Given the description of an element on the screen output the (x, y) to click on. 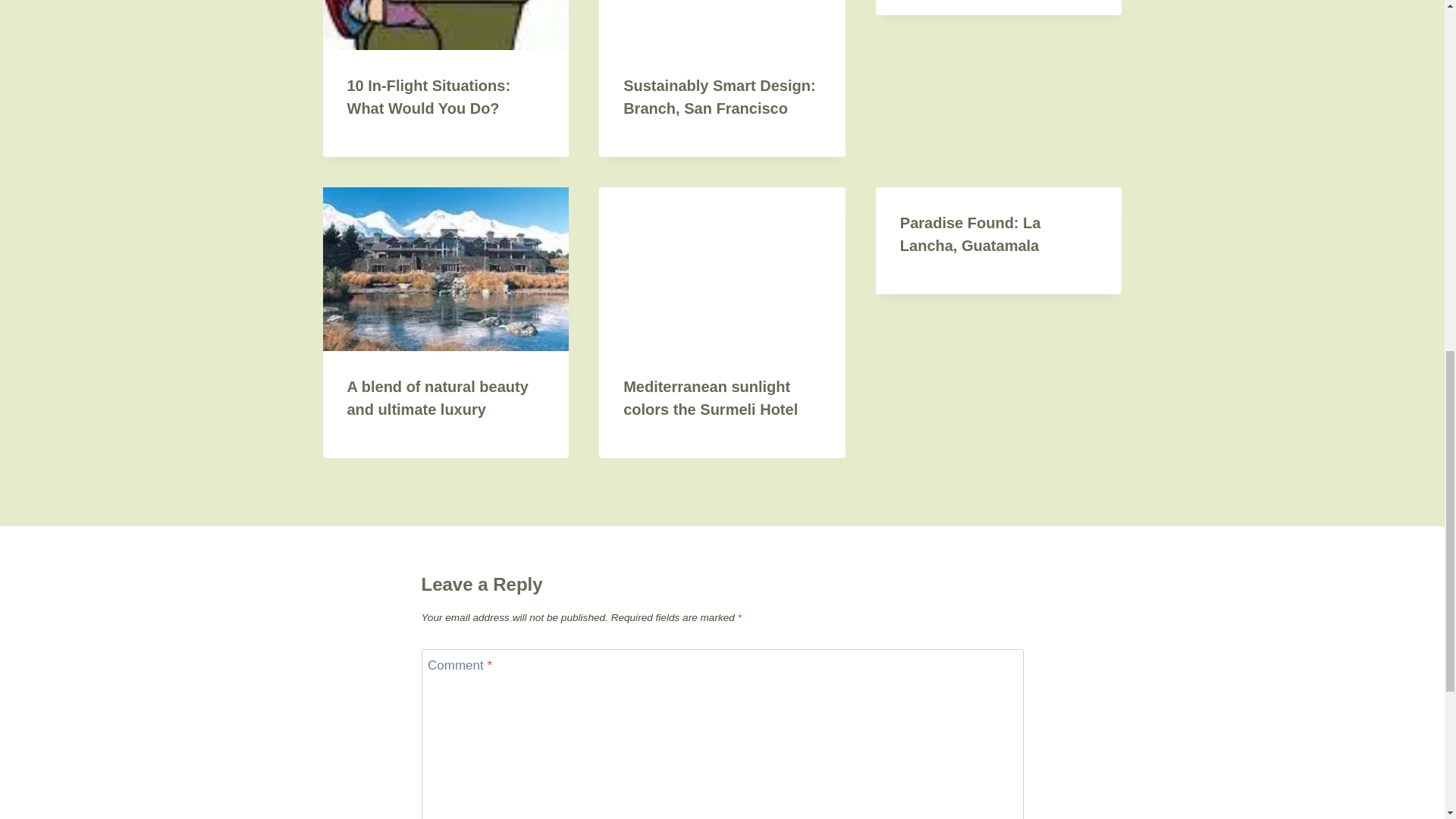
Mediterranean sunlight colors the Surmeli Hotel (710, 397)
10 In-Flight Situations: What Would You Do? (429, 96)
A blend of natural beauty and ultimate luxury (437, 397)
Paradise Found: La Lancha, Guatamala (970, 233)
Sustainably Smart Design: Branch, San Francisco (719, 96)
